Given the description of an element on the screen output the (x, y) to click on. 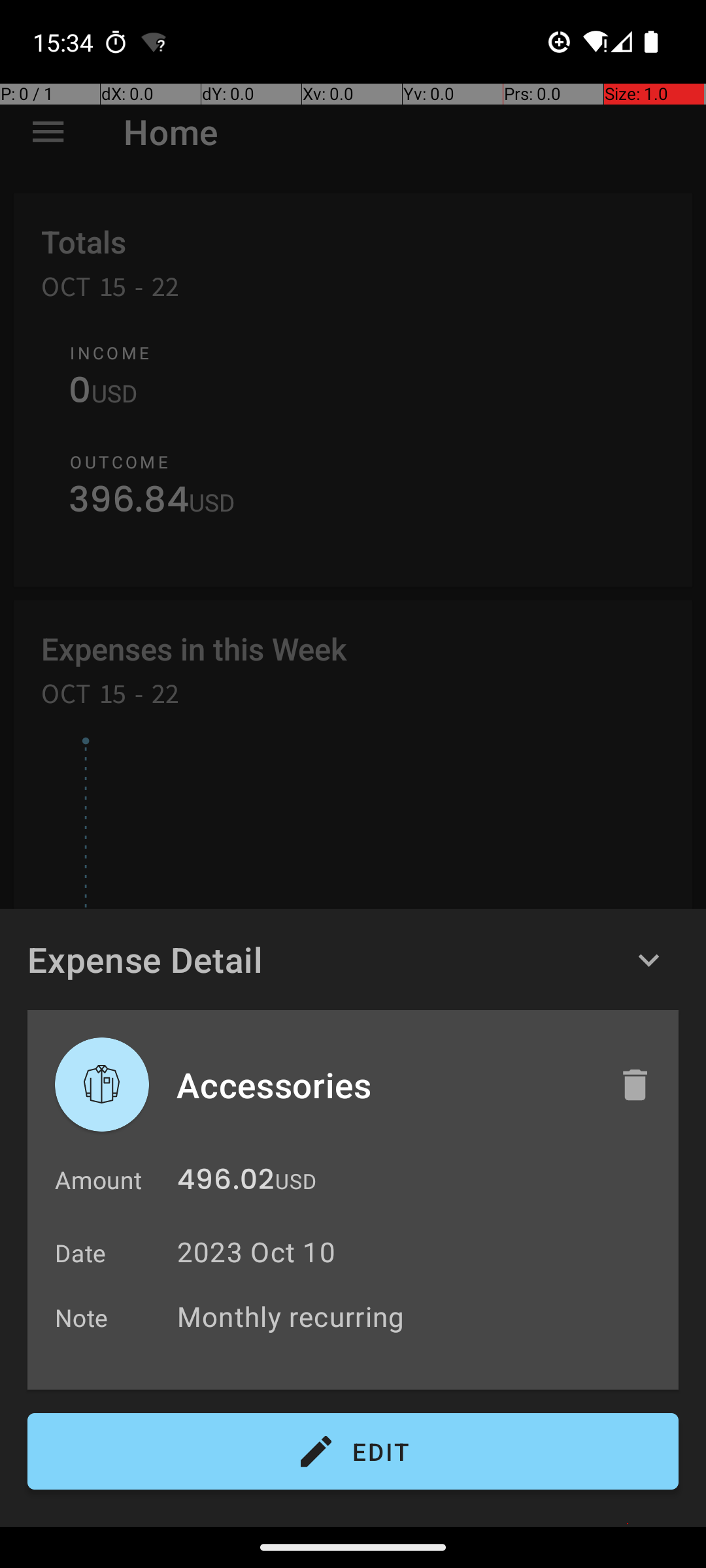
Accessories Element type: android.widget.TextView (383, 1084)
496.02 Element type: android.widget.TextView (225, 1182)
